Given the description of an element on the screen output the (x, y) to click on. 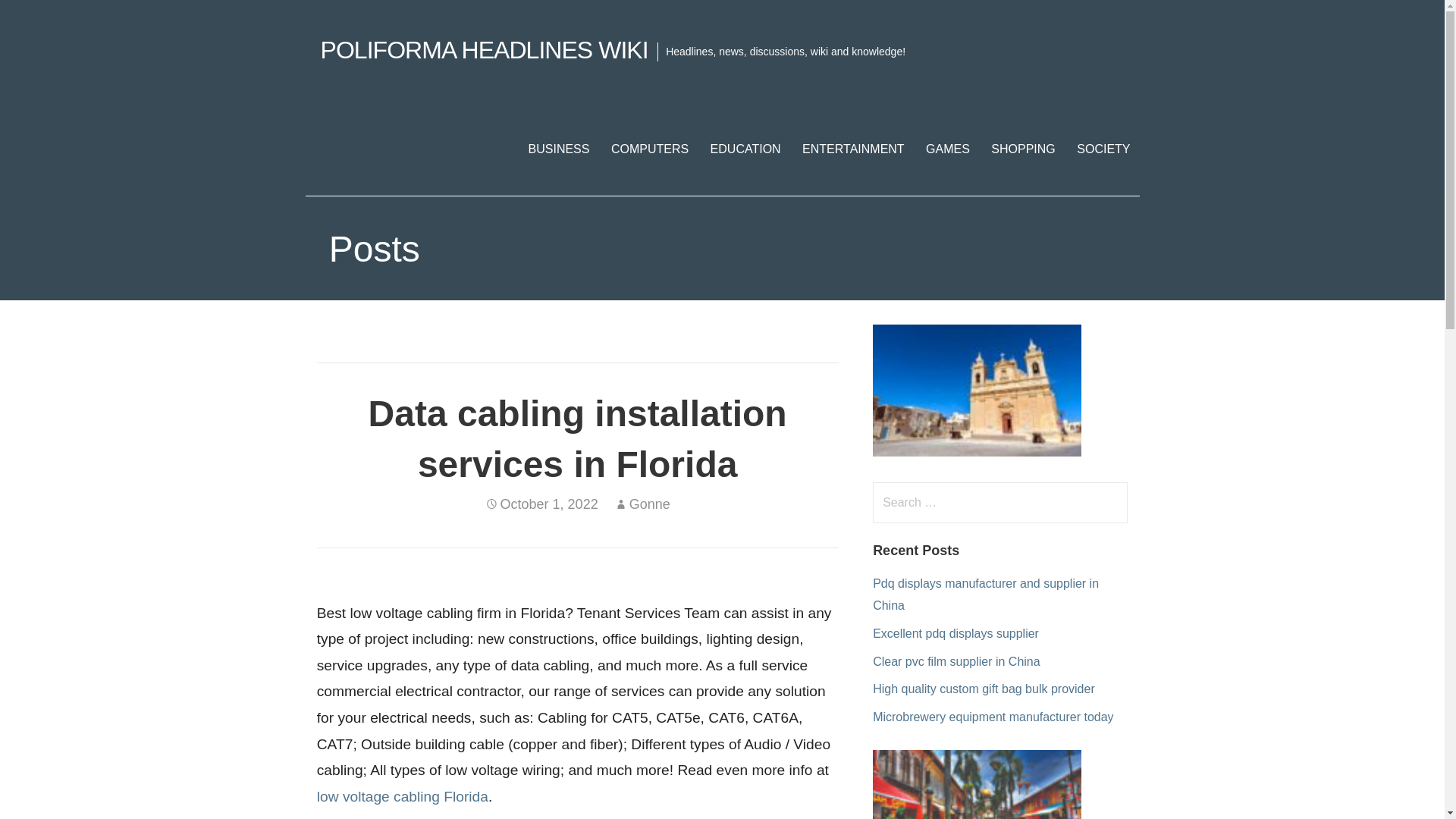
Microbrewery equipment manufacturer today (992, 716)
POLIFORMA HEADLINES WIKI (483, 49)
COMPUTERS (649, 148)
Gonne (648, 503)
Clear pvc film supplier in China (956, 661)
Pdq displays manufacturer and supplier in China (985, 594)
Excellent pdq displays supplier (955, 633)
High quality custom gift bag bulk provider (983, 688)
ENTERTAINMENT (853, 148)
Search (42, 18)
Posts by Gonne (648, 503)
low voltage cabling Florida (402, 796)
EDUCATION (745, 148)
